Given the description of an element on the screen output the (x, y) to click on. 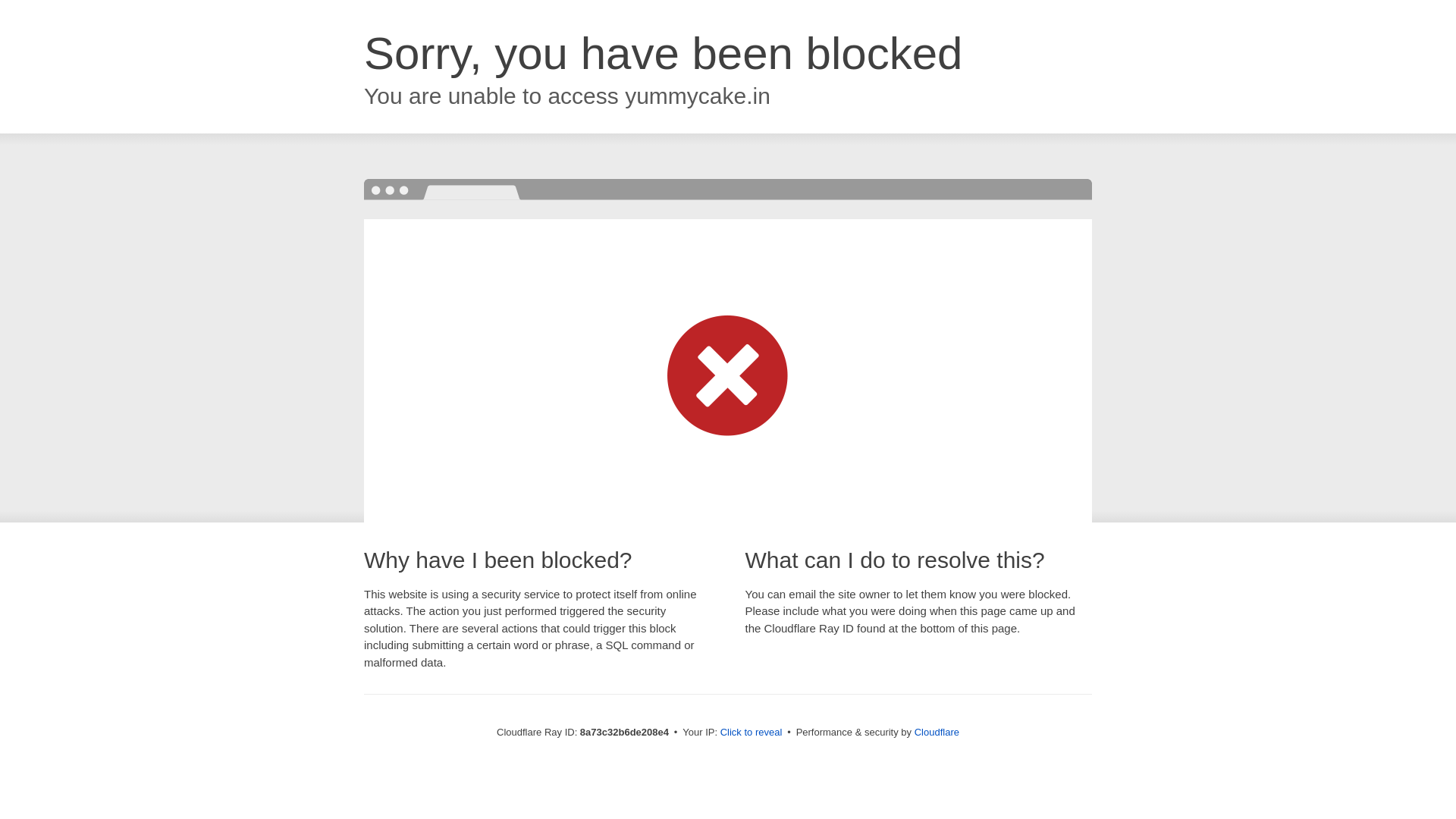
Click to reveal (751, 732)
Cloudflare (936, 731)
